Given the description of an element on the screen output the (x, y) to click on. 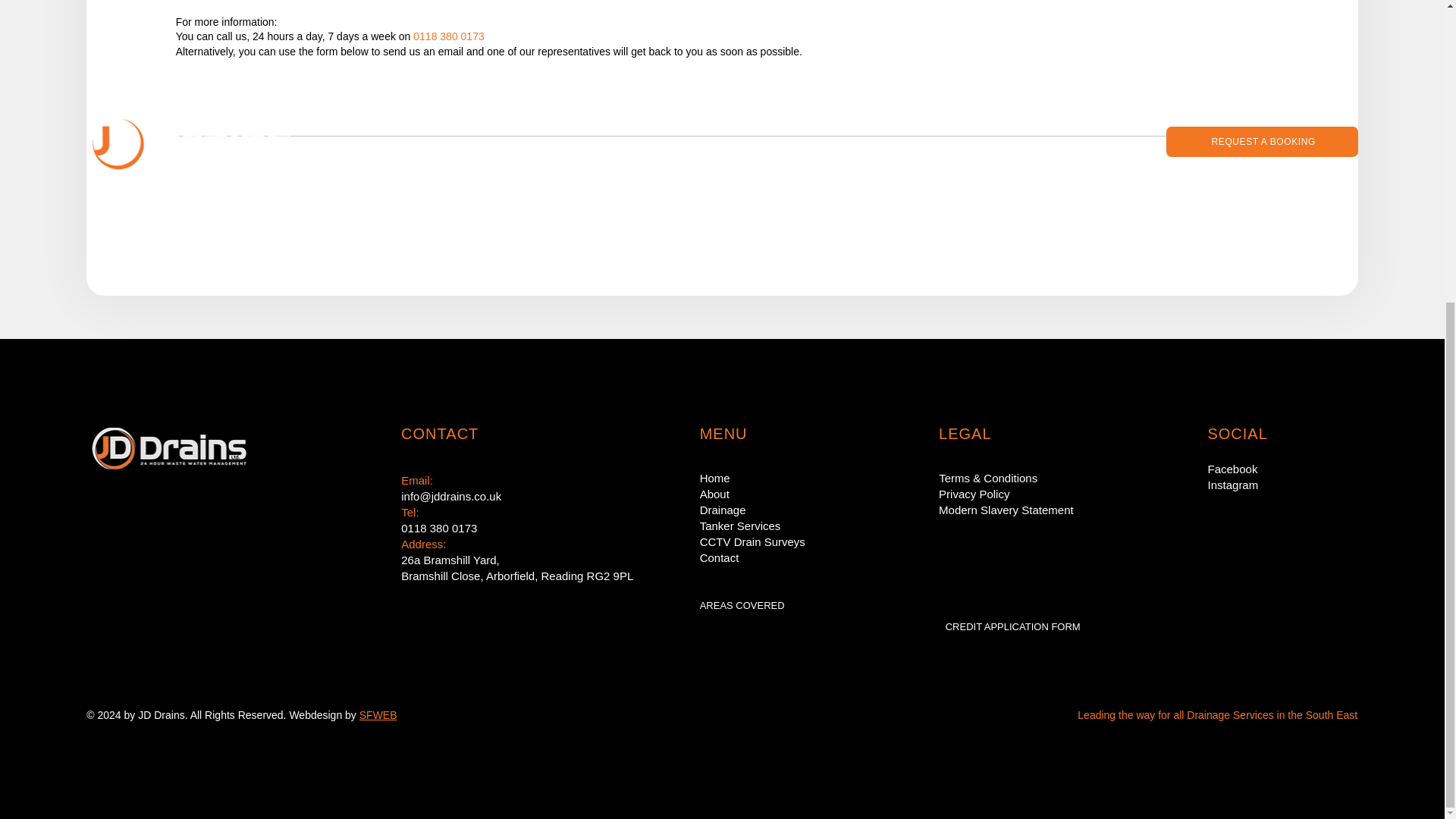
Home (803, 478)
Tanker Services (803, 525)
Contact (803, 557)
CCTV Drain Surveys (803, 541)
AREAS COVERED (742, 604)
About (803, 494)
Privacy Policy (974, 493)
Modern Slavery Statement (1006, 509)
Drainage (803, 509)
